Given the description of an element on the screen output the (x, y) to click on. 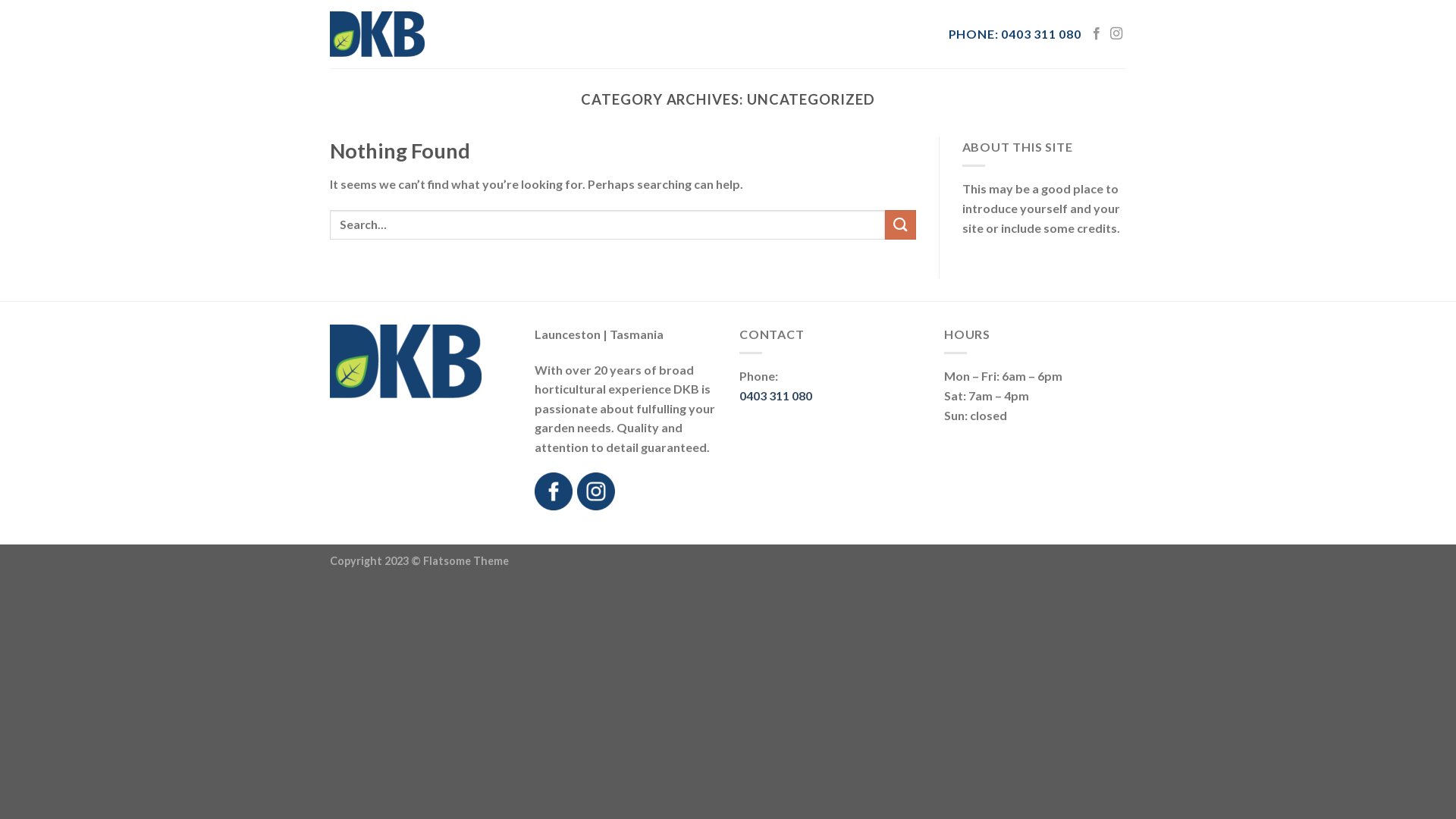
0403 311 080 Element type: text (775, 395)
Follow on Facebook Element type: hover (1096, 33)
Follow on Instagram Element type: hover (1116, 33)
